Given the description of an element on the screen output the (x, y) to click on. 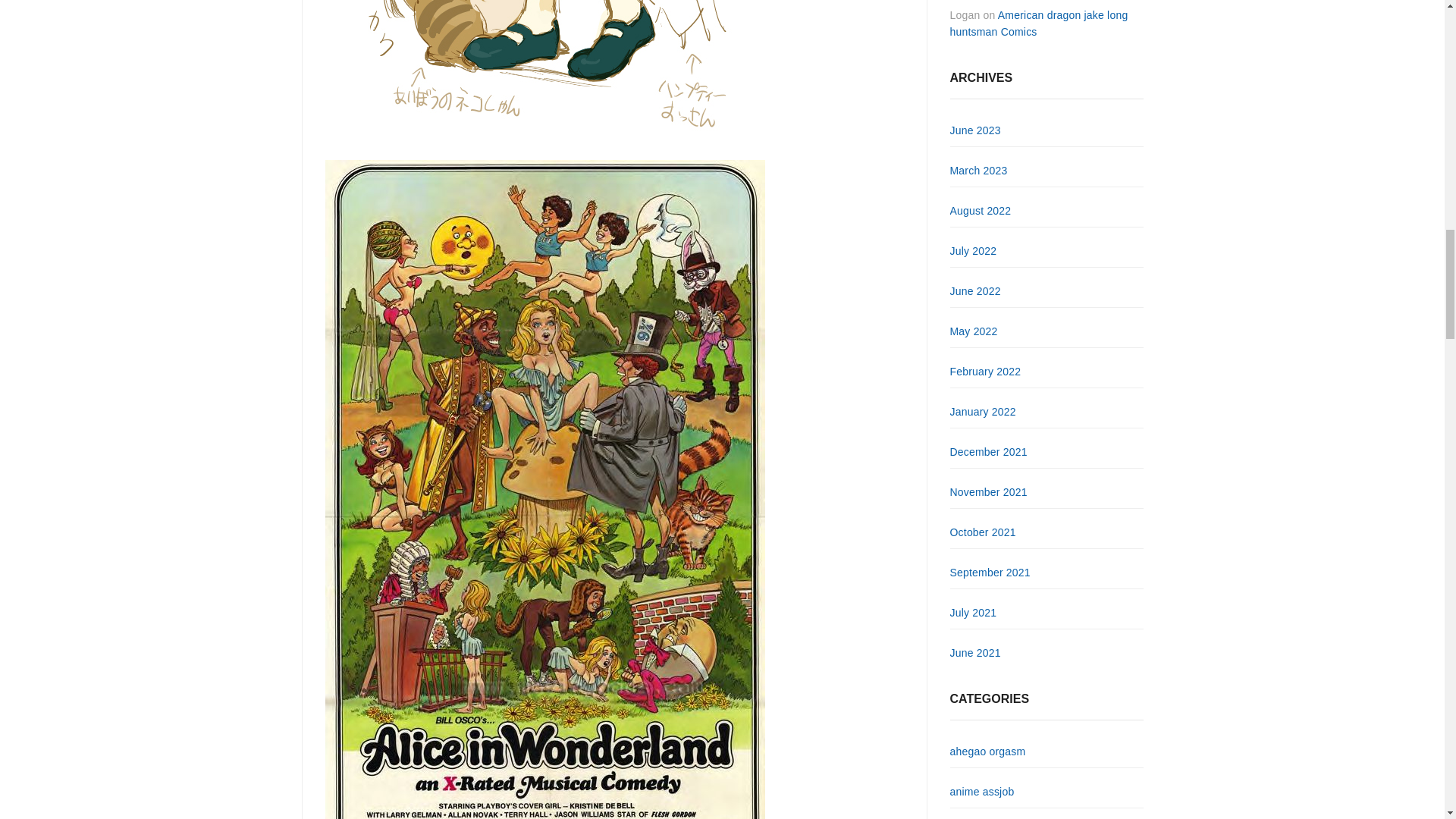
March 2023 (978, 170)
June 2022 (974, 291)
July 2022 (972, 250)
June 2023 (974, 130)
American dragon jake long huntsman Comics (1037, 23)
August 2022 (979, 210)
